Given the description of an element on the screen output the (x, y) to click on. 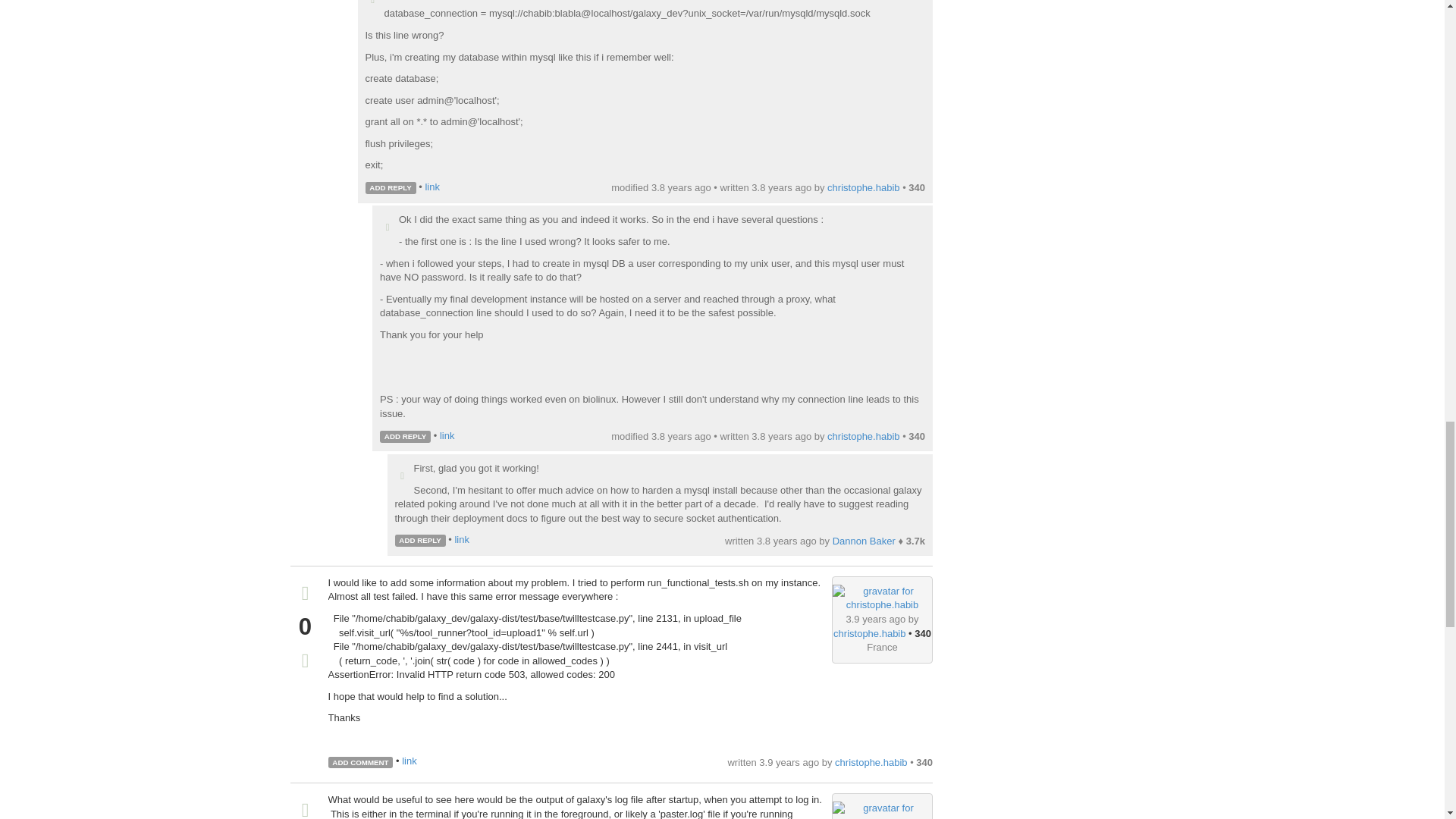
Upvote! (304, 809)
Bookmark! (304, 662)
Upvote! (304, 594)
Upvote! (372, 3)
Upvote! (387, 227)
Upvote! (401, 476)
